Given the description of an element on the screen output the (x, y) to click on. 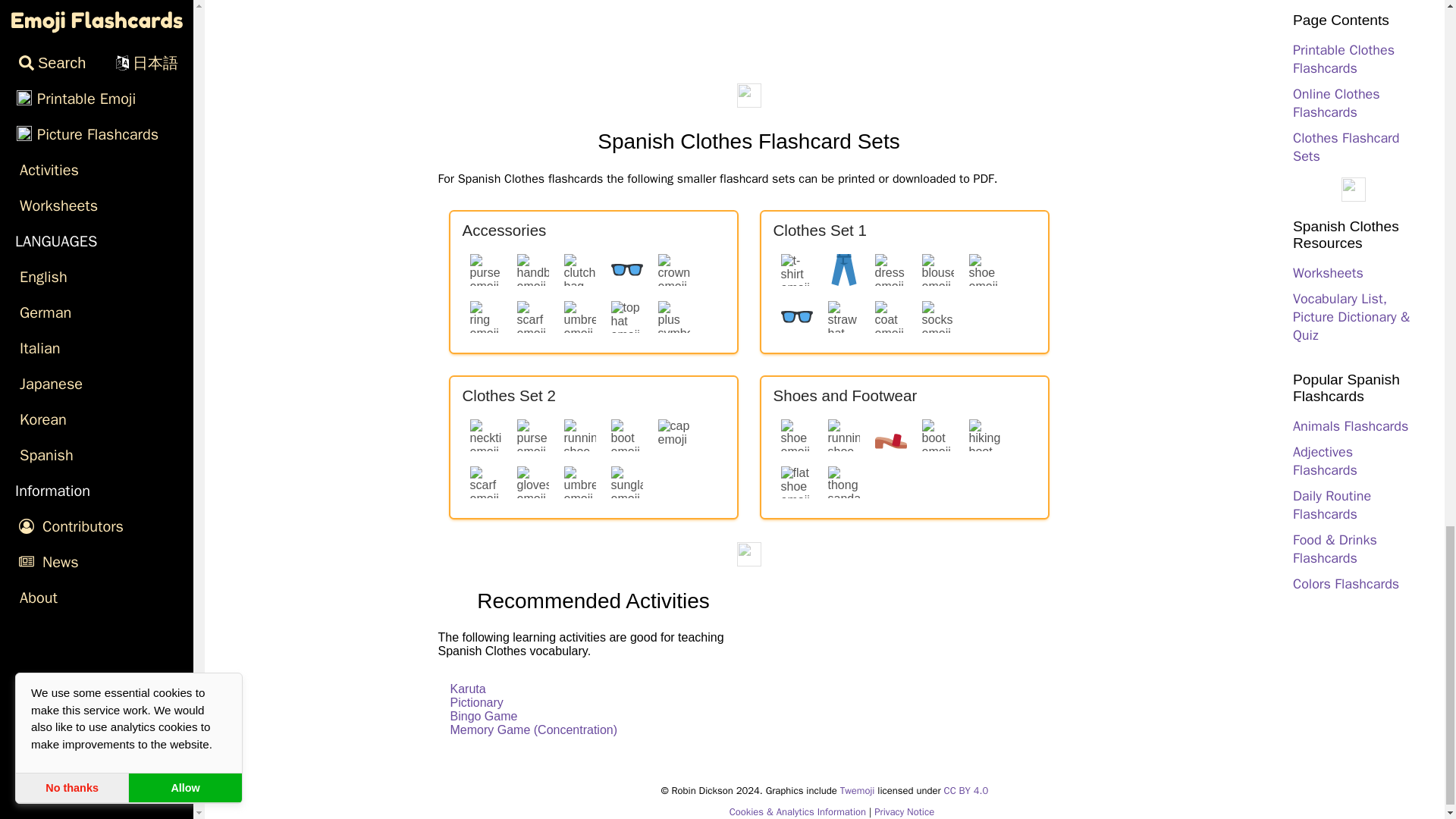
Pictionary (476, 702)
Karuta (467, 688)
Bingo Game (483, 716)
